Given the description of an element on the screen output the (x, y) to click on. 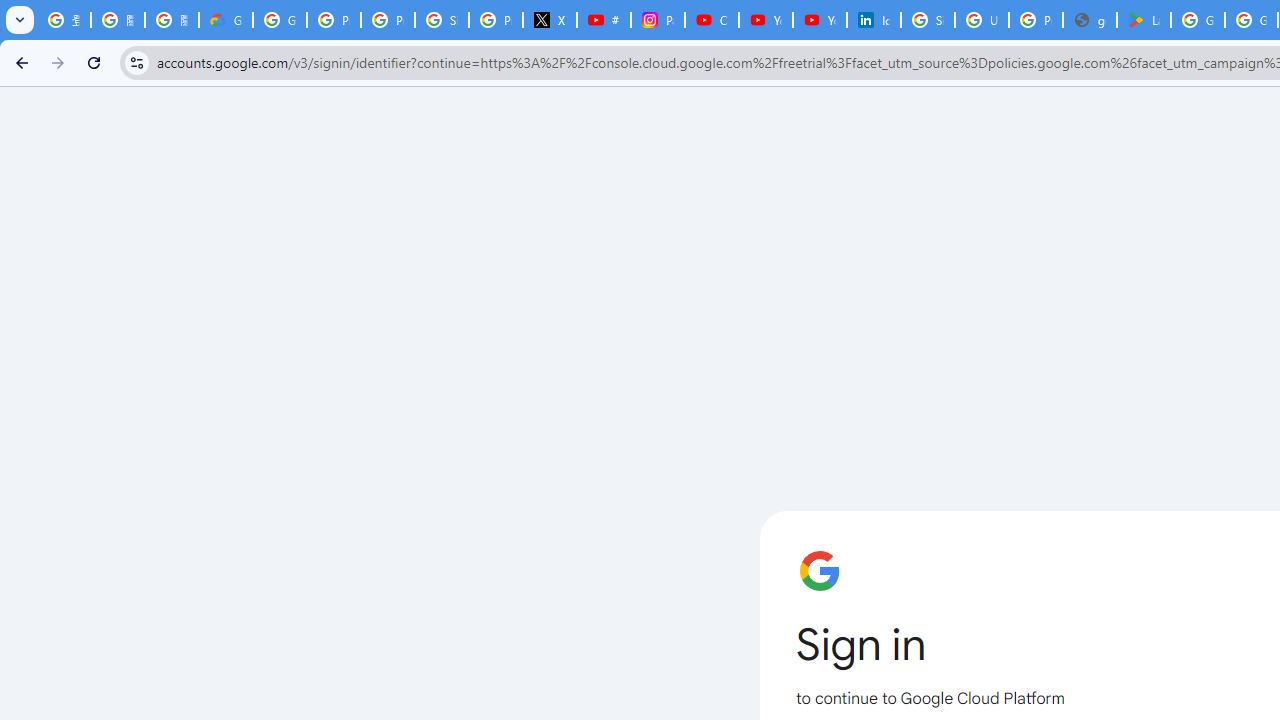
Privacy Help Center - Policies Help (387, 20)
YouTube Culture & Trends - YouTube Top 10, 2021 (819, 20)
google_privacy_policy_en.pdf (1089, 20)
Sign in - Google Accounts (927, 20)
#nbabasketballhighlights - YouTube (604, 20)
Sign in - Google Accounts (441, 20)
